Given the description of an element on the screen output the (x, y) to click on. 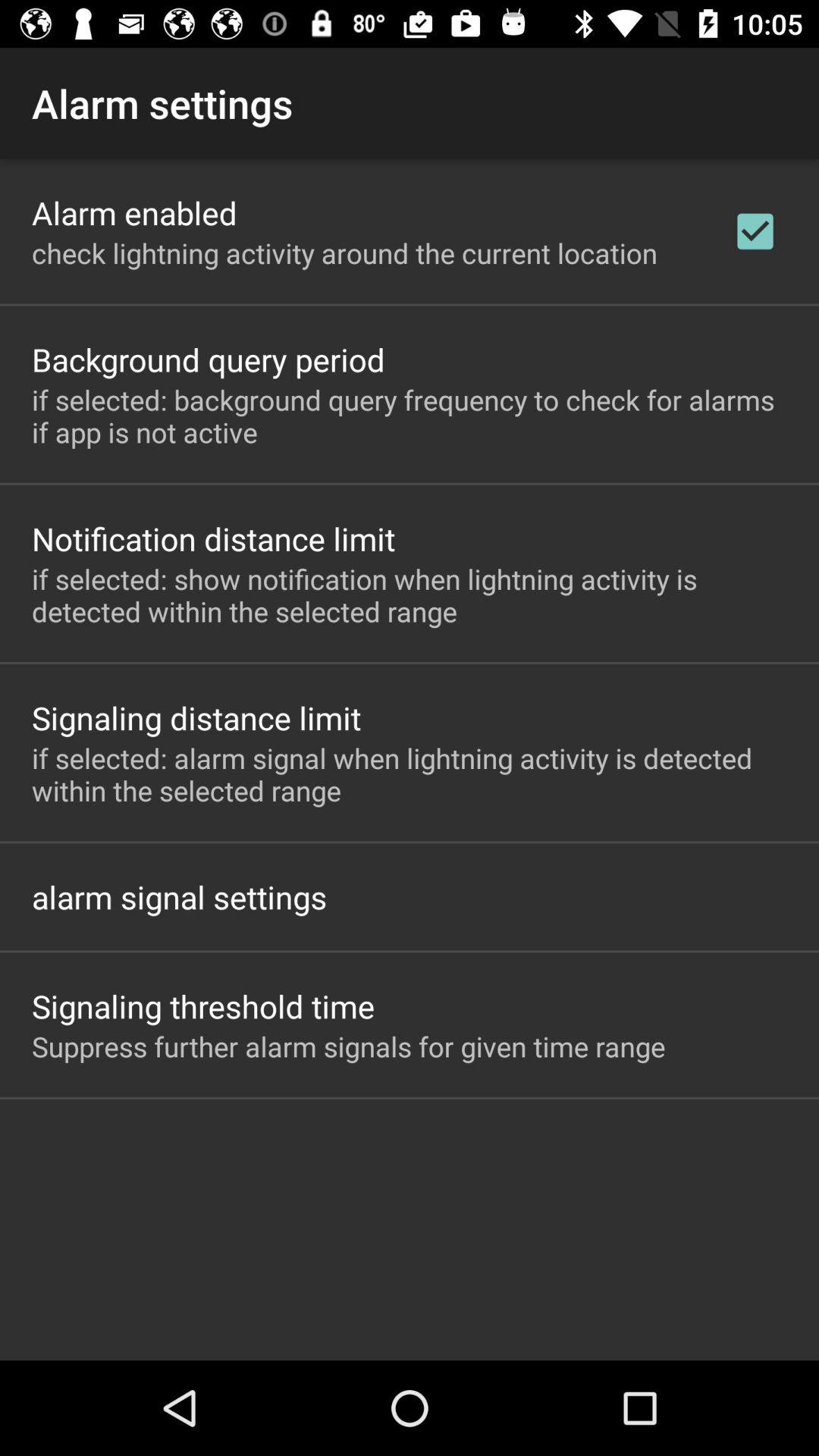
choose app to the right of check lightning activity (755, 231)
